Given the description of an element on the screen output the (x, y) to click on. 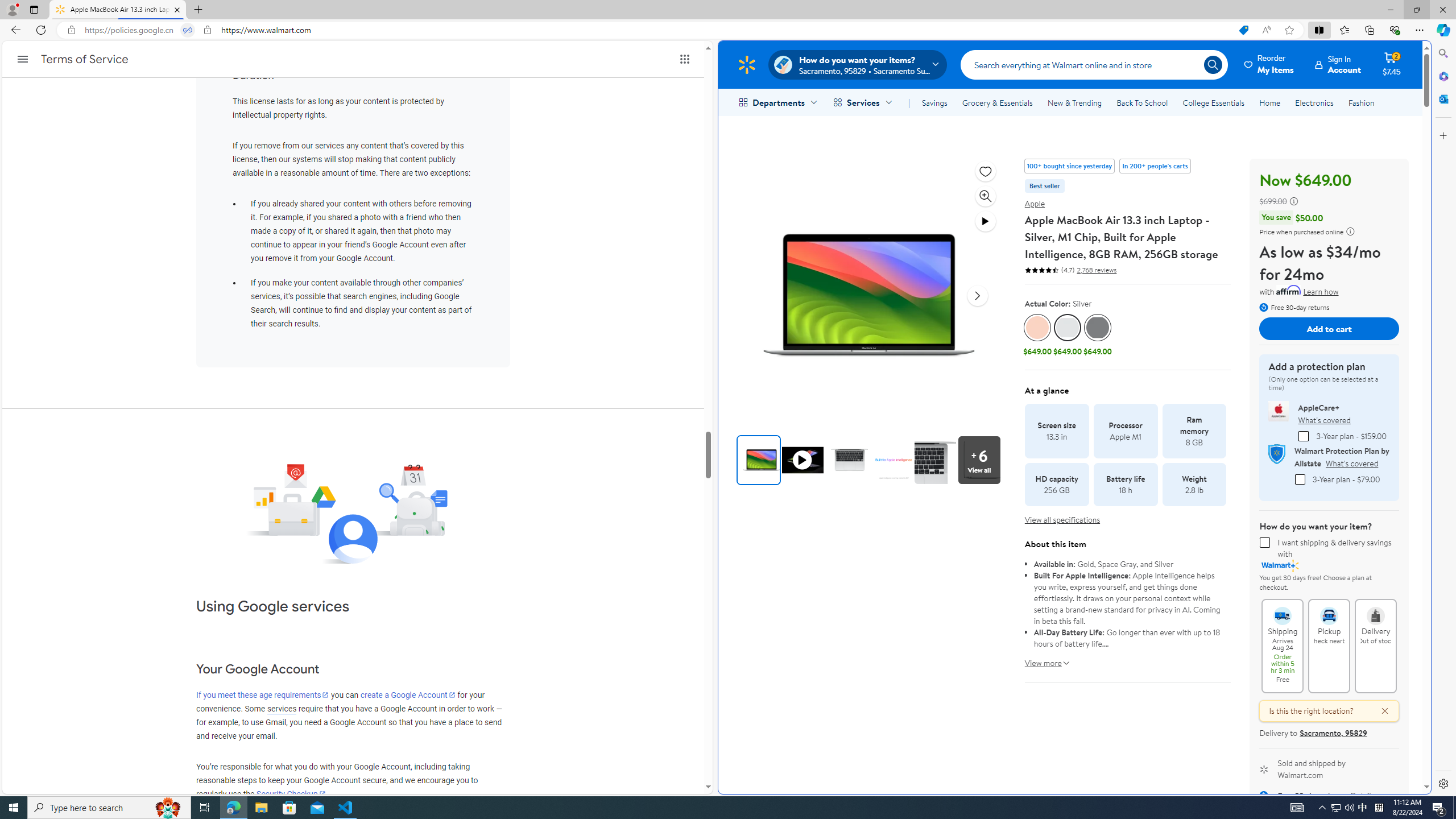
Delivery Out of stock (1375, 610)
Free 30-day returns (1294, 306)
Sign In Account (1338, 64)
ReorderMy Items (1269, 64)
College Essentials (1213, 102)
Shipping Arrives Aug 24 Order within 5 hr 3 min Free (1282, 610)
New & Trending (1075, 102)
Electronics (1314, 102)
